Given the description of an element on the screen output the (x, y) to click on. 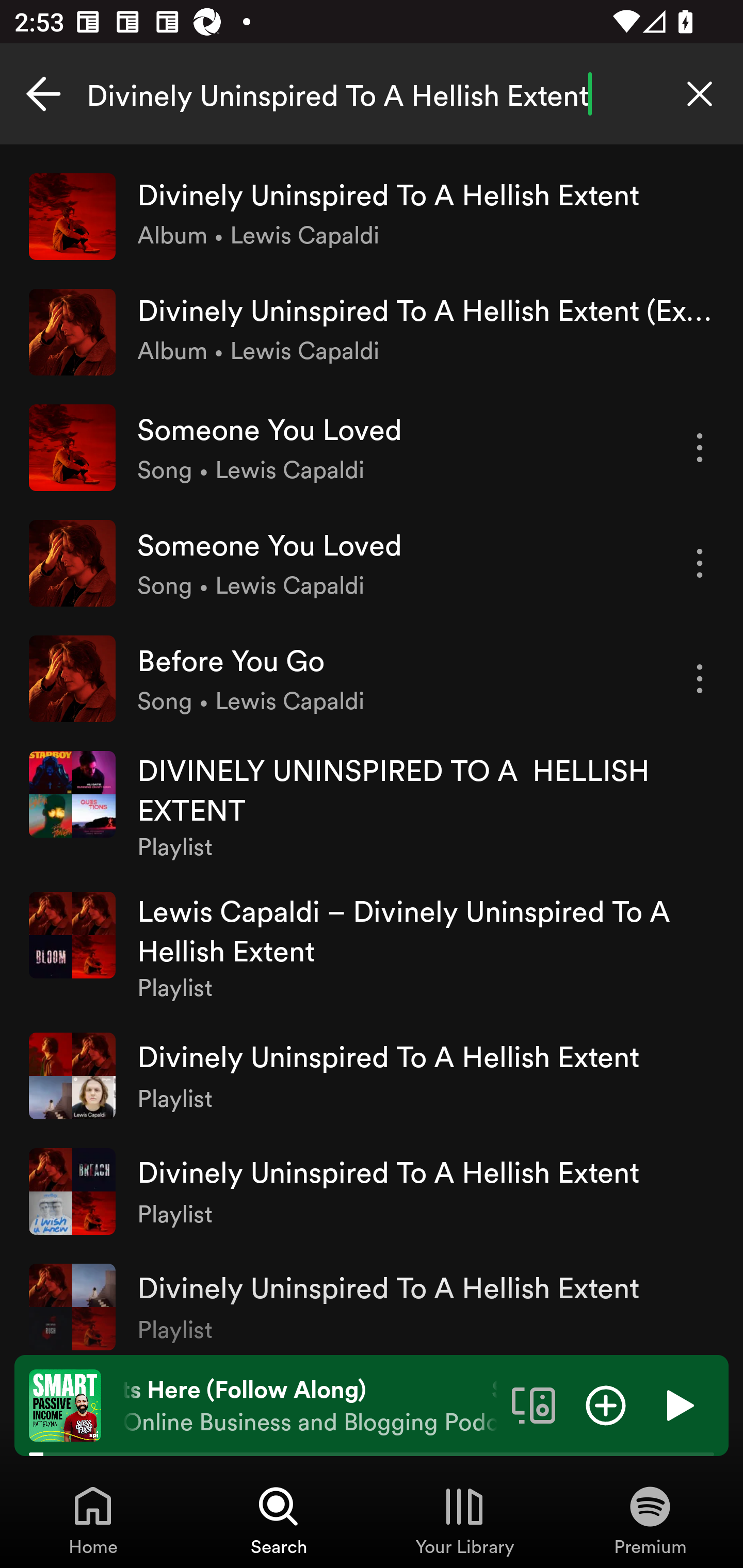
Divinely Uninspired To A Hellish Extent (371, 93)
Cancel (43, 93)
Clear search query (699, 93)
More options for song Someone You Loved (699, 447)
More options for song Someone You Loved (699, 563)
More options for song Before You Go (699, 678)
Divinely Uninspired To A Hellish Extent Playlist (371, 1075)
Divinely Uninspired To A Hellish Extent Playlist (371, 1191)
Divinely Uninspired To A Hellish Extent Playlist (371, 1301)
The cover art of the currently playing track (64, 1404)
Connect to a device. Opens the devices menu (533, 1404)
Add item (605, 1404)
Play (677, 1404)
Home, Tab 1 of 4 Home Home (92, 1519)
Search, Tab 2 of 4 Search Search (278, 1519)
Your Library, Tab 3 of 4 Your Library Your Library (464, 1519)
Premium, Tab 4 of 4 Premium Premium (650, 1519)
